Given the description of an element on the screen output the (x, y) to click on. 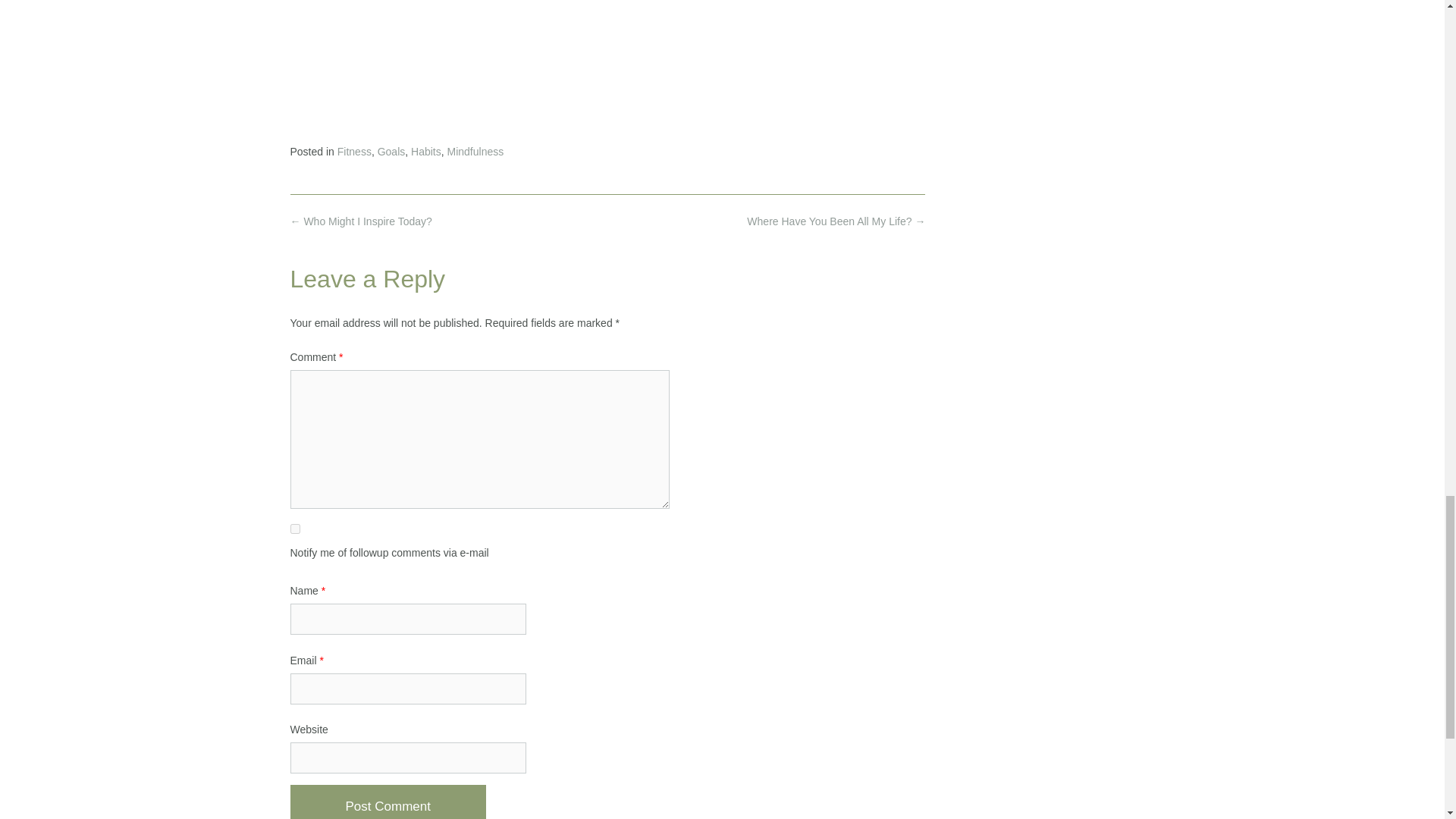
Mindfulness (474, 151)
subscribe (294, 528)
Post Comment (386, 801)
Goals (391, 151)
Fitness (354, 151)
Post Comment (386, 801)
Habits (425, 151)
